Given the description of an element on the screen output the (x, y) to click on. 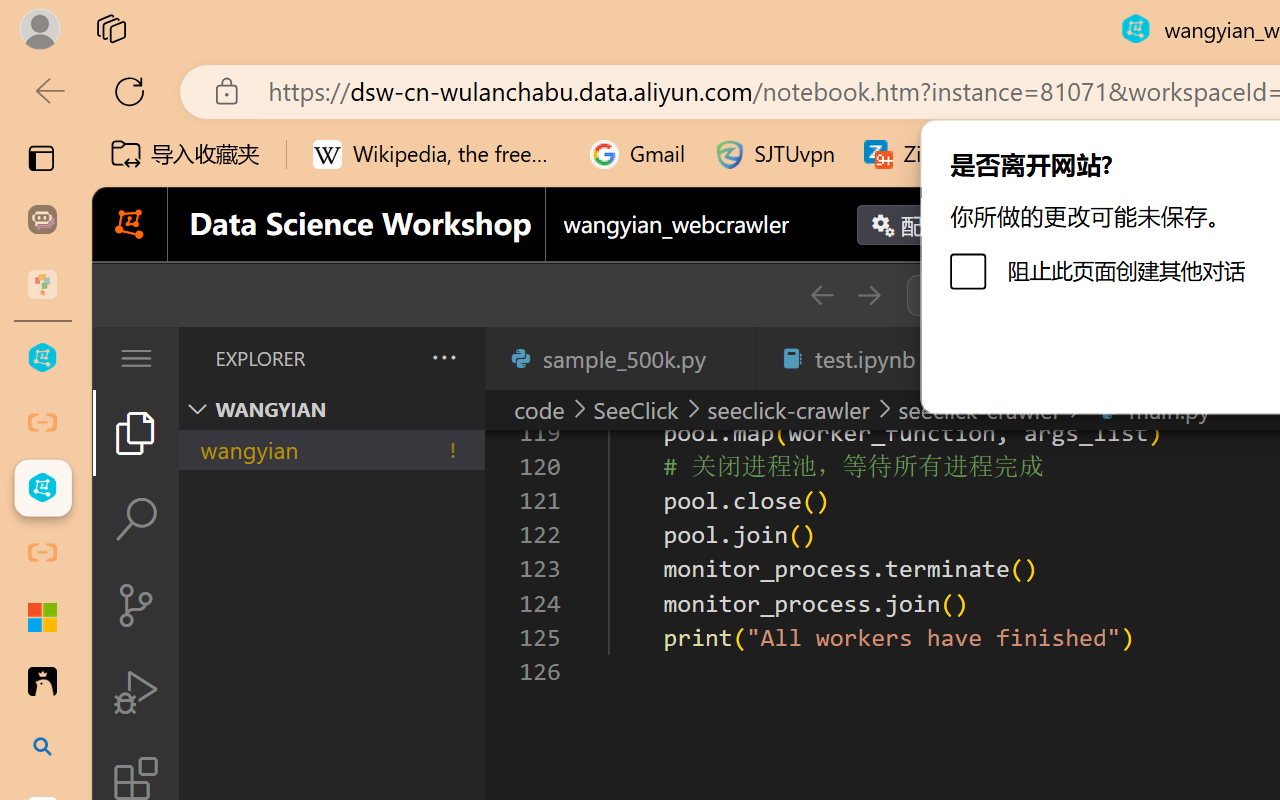
Search (Ctrl+Shift+F) (135, 519)
Run and Debug (Ctrl+Shift+D) (135, 692)
Class: menubar compact overflow-menu-only (135, 358)
wangyian_dsw - DSW (42, 357)
Views and More Actions... (442, 357)
Adjust indents and spacing - Microsoft Support (42, 617)
